Given the description of an element on the screen output the (x, y) to click on. 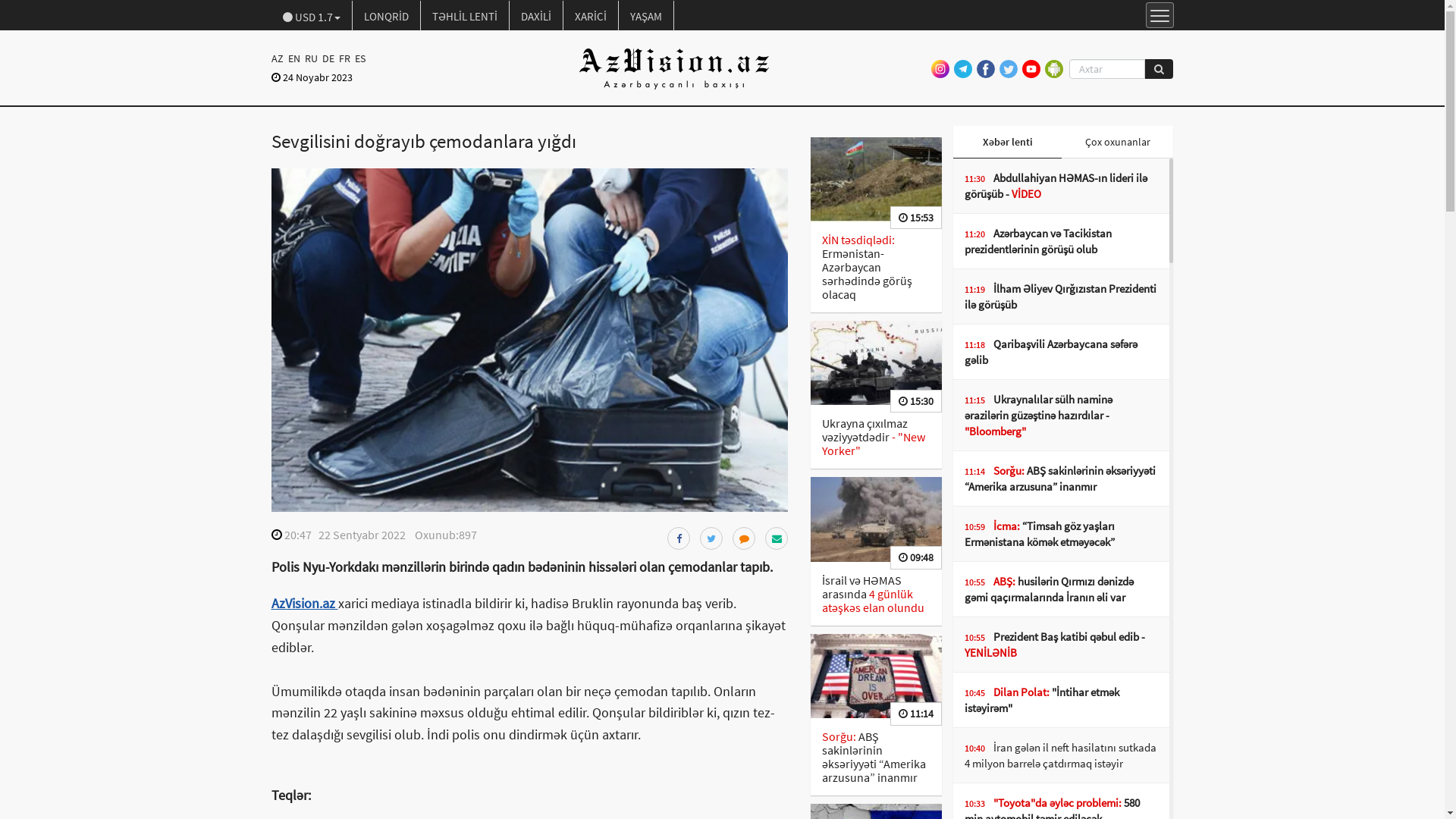
ES Element type: text (359, 58)
FR Element type: text (344, 58)
USD 1.7 Element type: text (311, 15)
EN Element type: text (293, 58)
AZ Element type: text (278, 58)
RU Element type: text (310, 58)
AzVision.az Element type: text (304, 602)
DE Element type: text (328, 58)
